Given the description of an element on the screen output the (x, y) to click on. 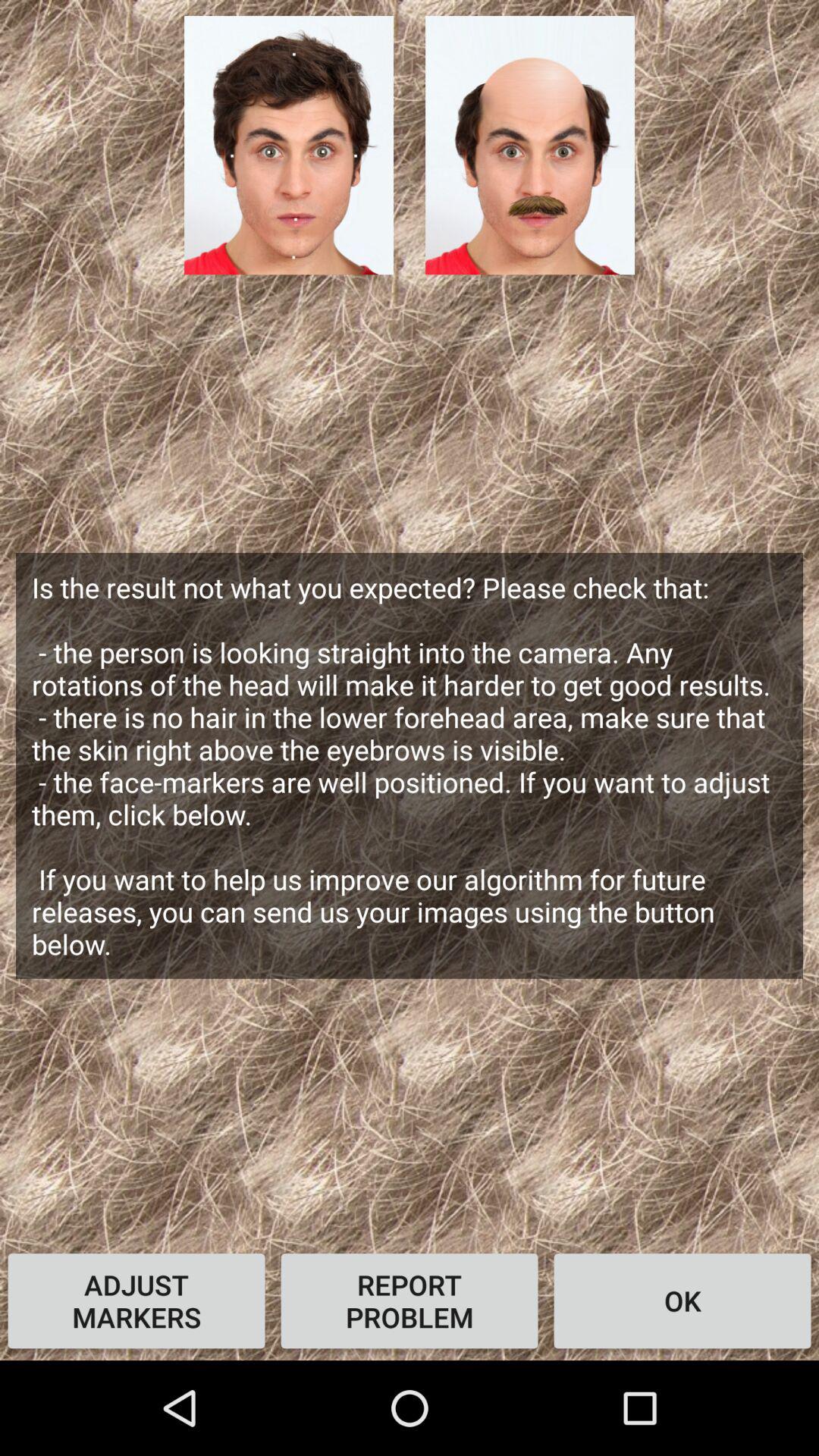
turn on the icon at the bottom left corner (136, 1300)
